Given the description of an element on the screen output the (x, y) to click on. 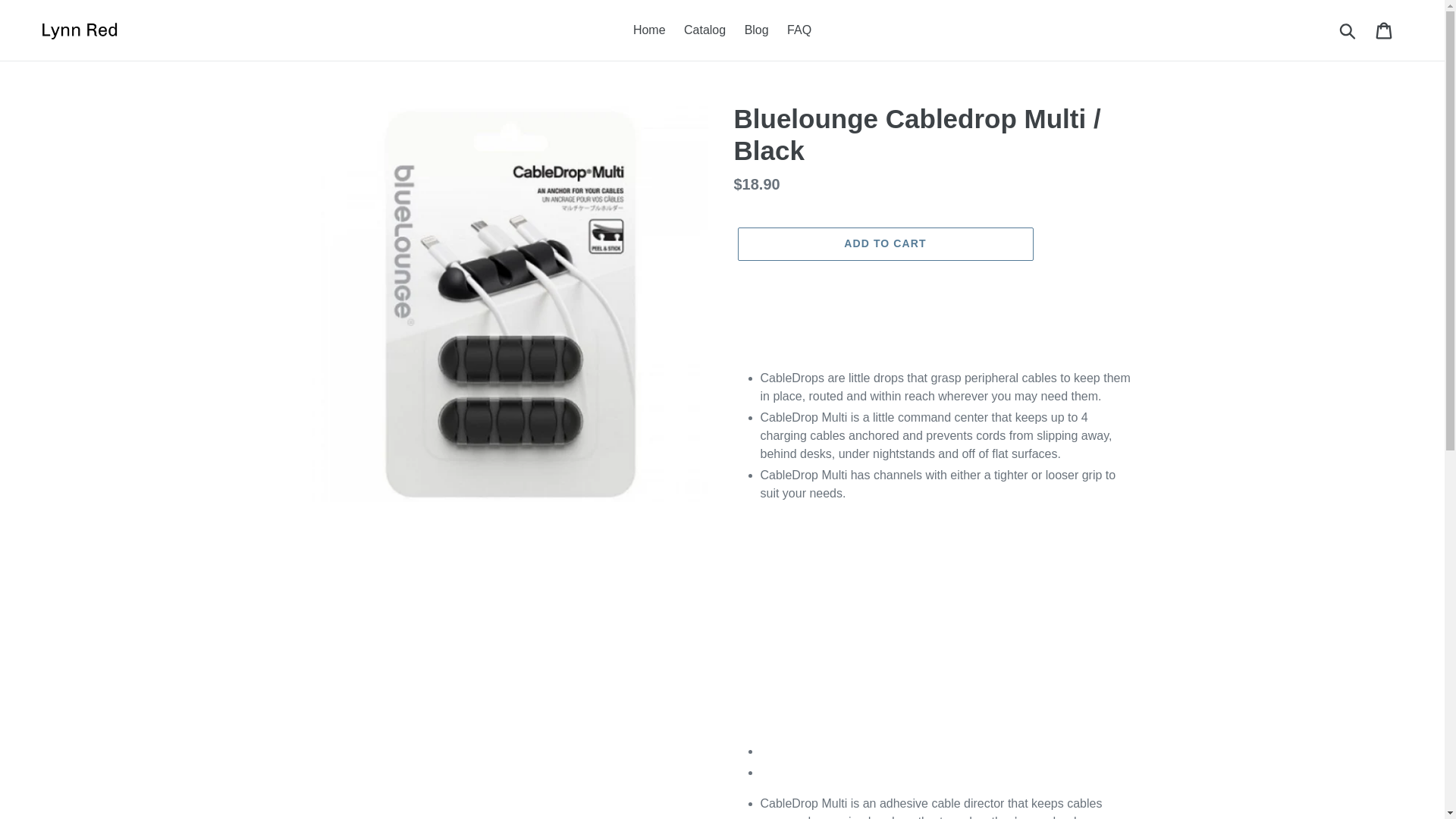
ADD TO CART (884, 244)
Submit (1348, 29)
Catalog (705, 29)
FAQ (798, 29)
Home (649, 29)
Cart (1385, 29)
Blog (756, 29)
